Given the description of an element on the screen output the (x, y) to click on. 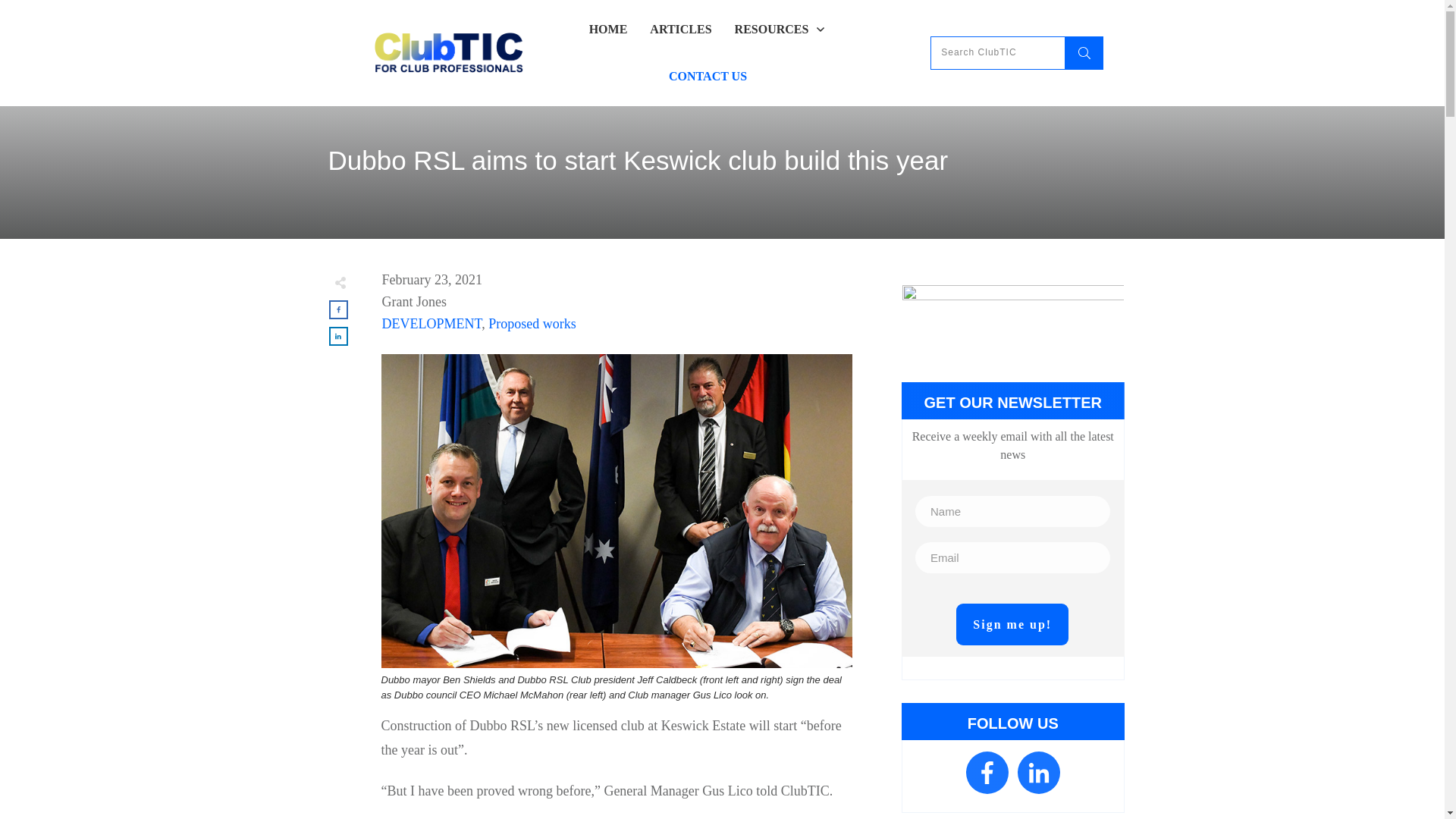
ARTICLES (680, 29)
DEVELOPMENT (431, 323)
CONTACT US (707, 76)
DEVELOPMENT (431, 323)
Proposed works (531, 323)
Proposed works (531, 323)
HOME (608, 29)
Sign me up! (1012, 624)
RESOURCES (781, 29)
